Given the description of an element on the screen output the (x, y) to click on. 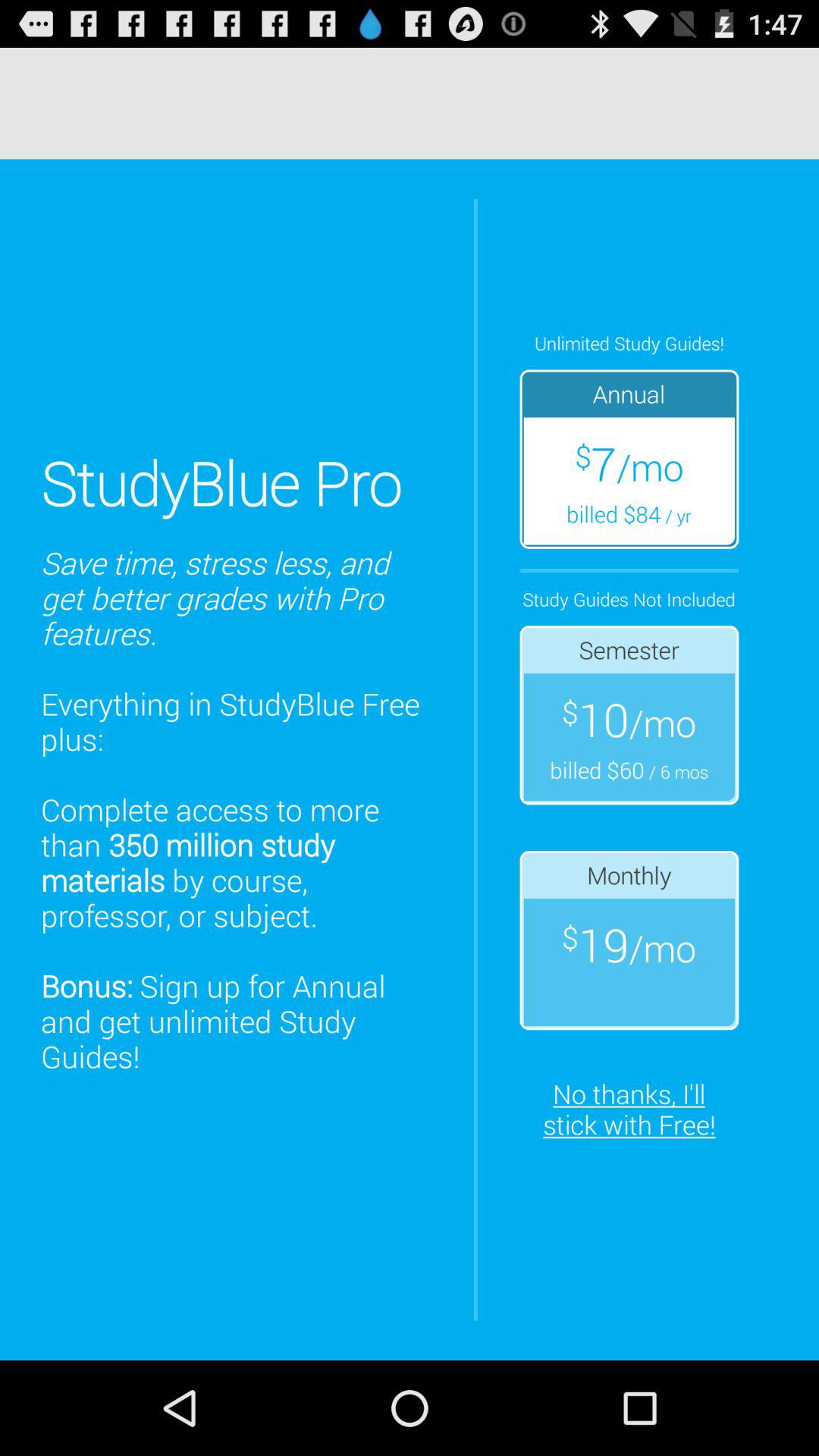
tap the icon below $19/mo icon (629, 1109)
